Given the description of an element on the screen output the (x, y) to click on. 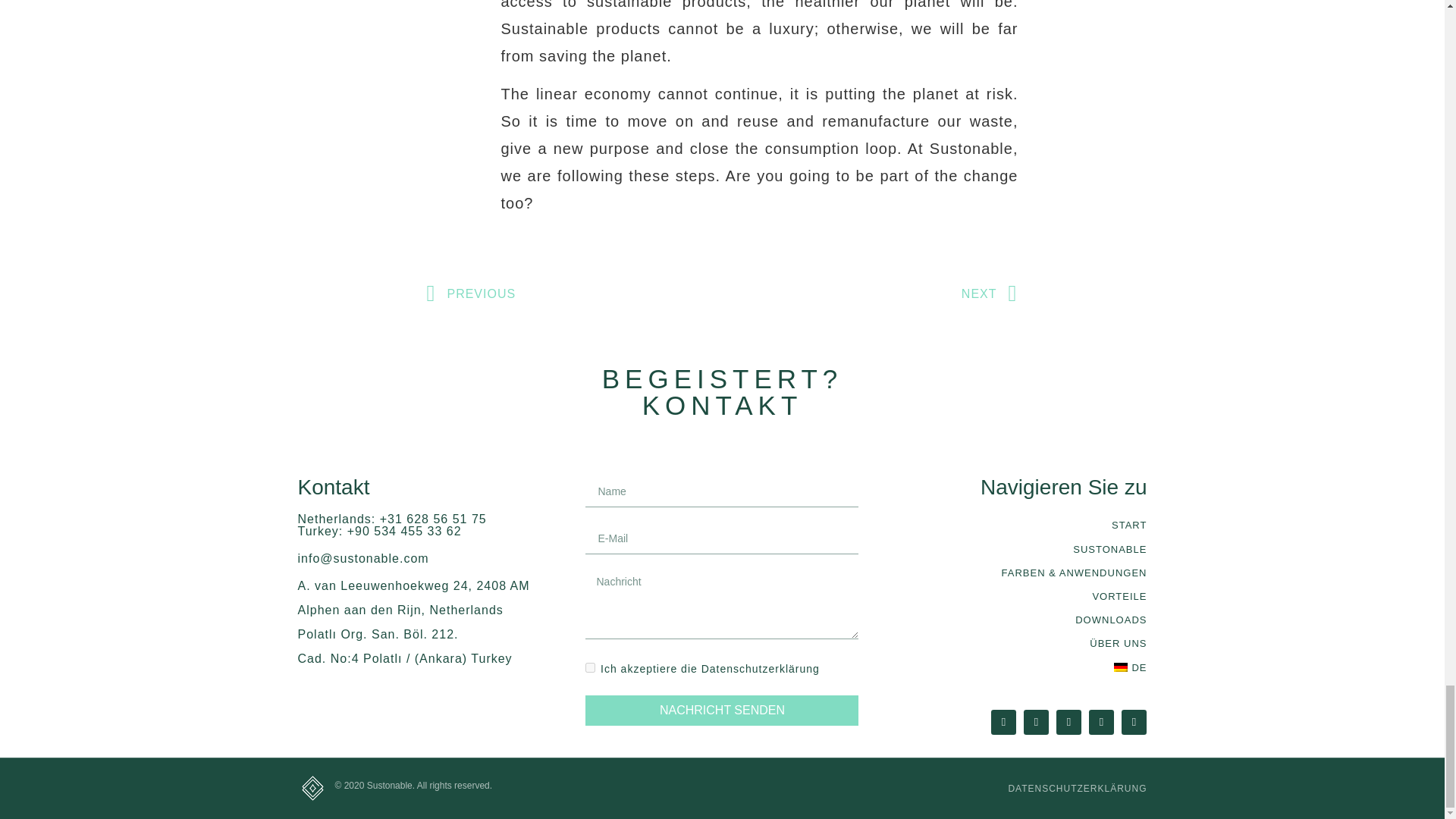
German (1119, 666)
NACHRICHT SENDEN (722, 710)
PREVIOUS (574, 293)
on (590, 667)
NEXT (869, 293)
START (1010, 525)
